Given the description of an element on the screen output the (x, y) to click on. 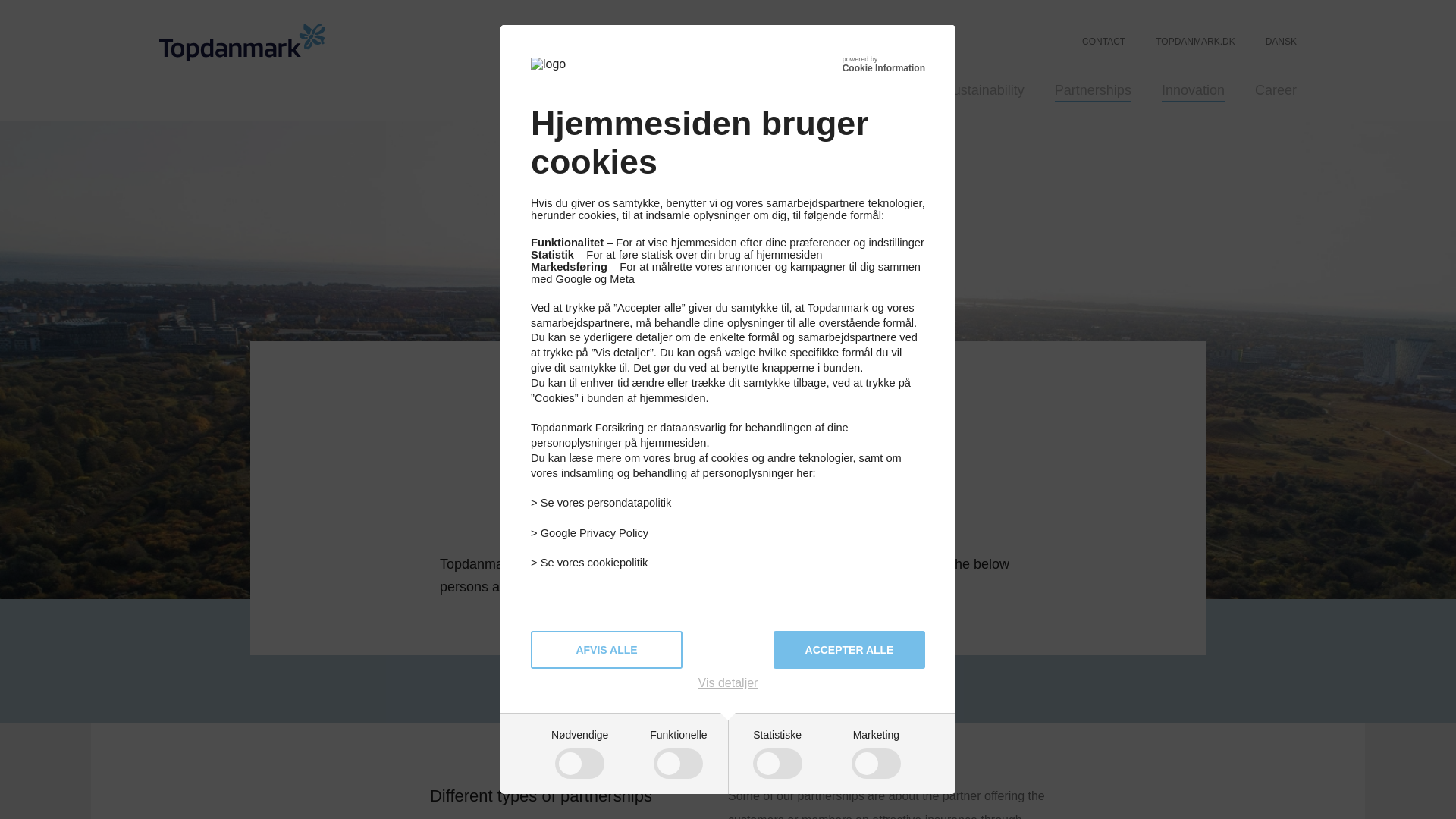
Vis detaljer (728, 683)
AFVIS ALLE (606, 649)
ACCEPTER ALLE (848, 649)
Cookie Information (883, 68)
